Given the description of an element on the screen output the (x, y) to click on. 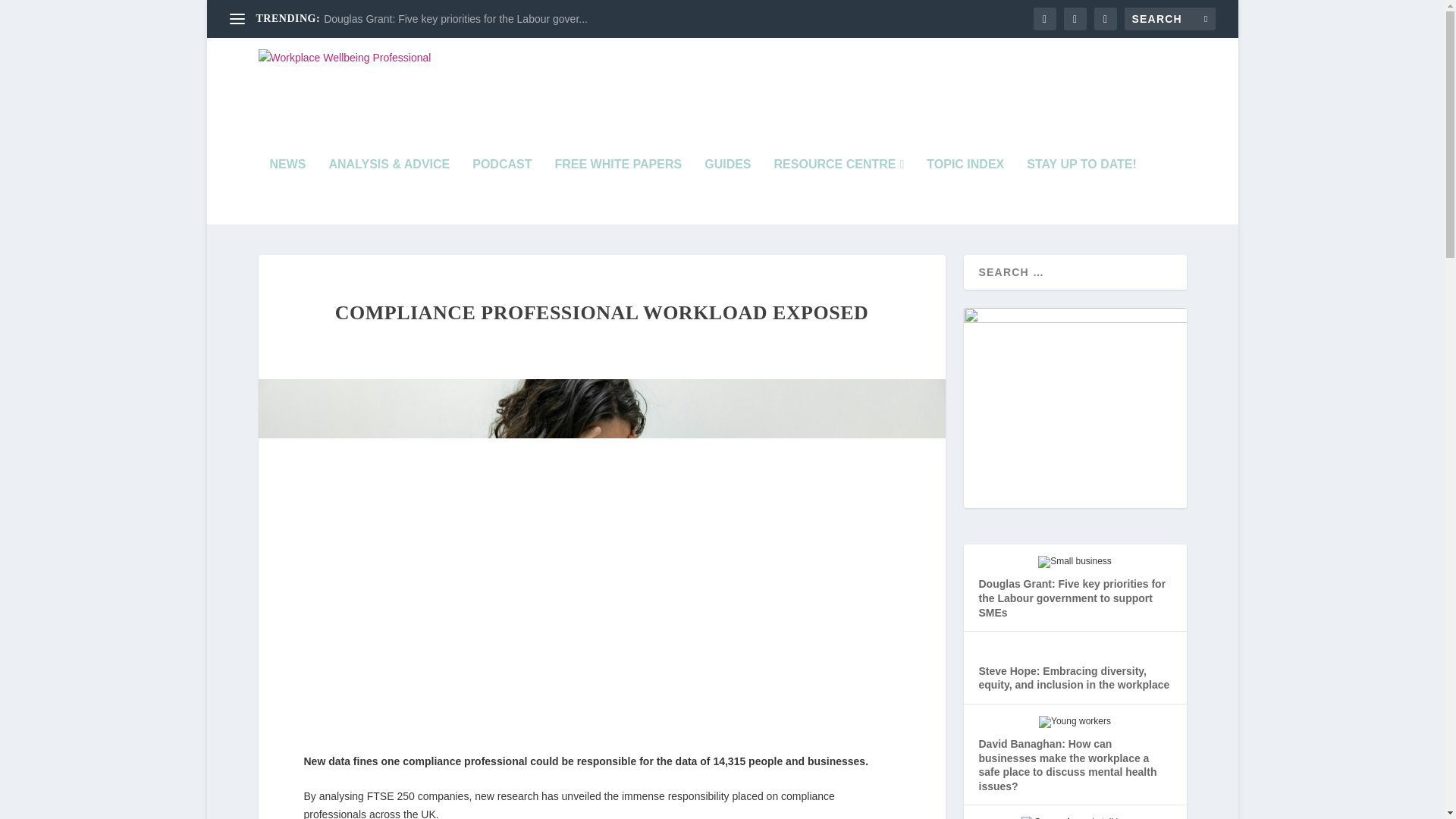
TOPIC INDEX (965, 191)
FREE WHITE PAPERS (617, 191)
RESOURCE CENTRE (839, 191)
Douglas Grant: Five key priorities for the Labour gover... (455, 19)
